Given the description of an element on the screen output the (x, y) to click on. 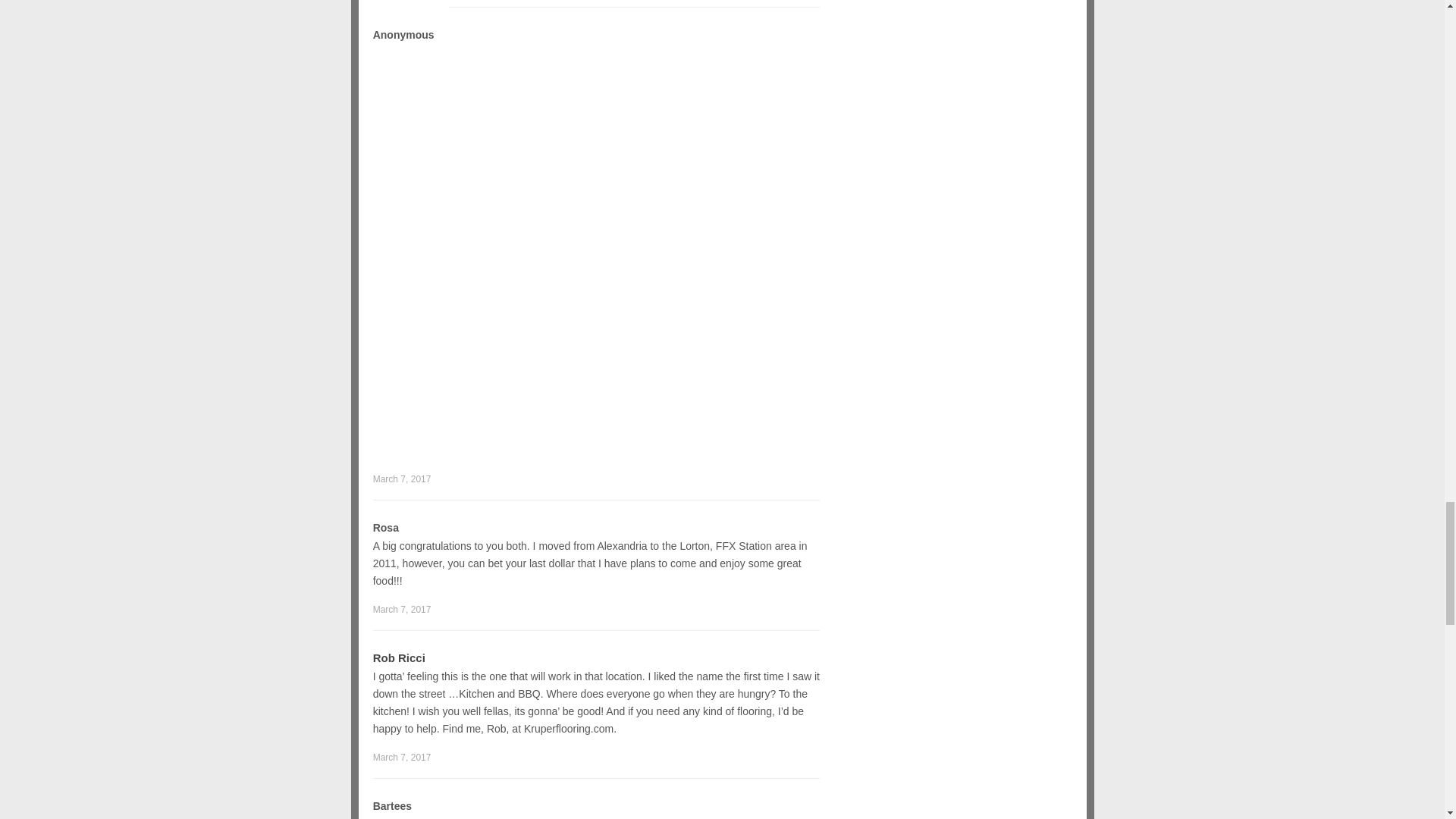
Rob Ricci (398, 657)
